Given the description of an element on the screen output the (x, y) to click on. 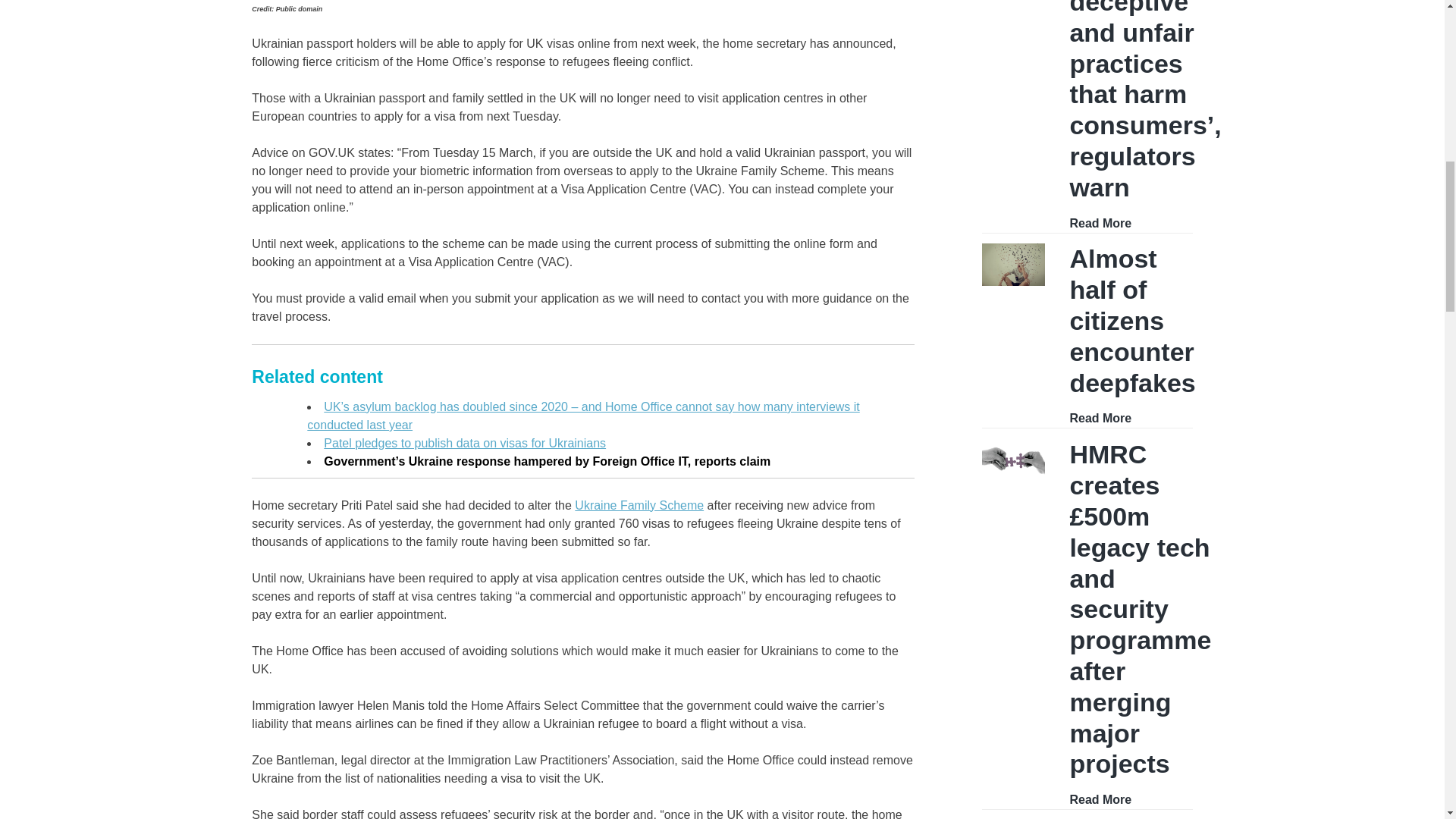
Patel pledges to publish data on visas for Ukrainians (464, 442)
Ukraine Family Scheme (639, 504)
